Given the description of an element on the screen output the (x, y) to click on. 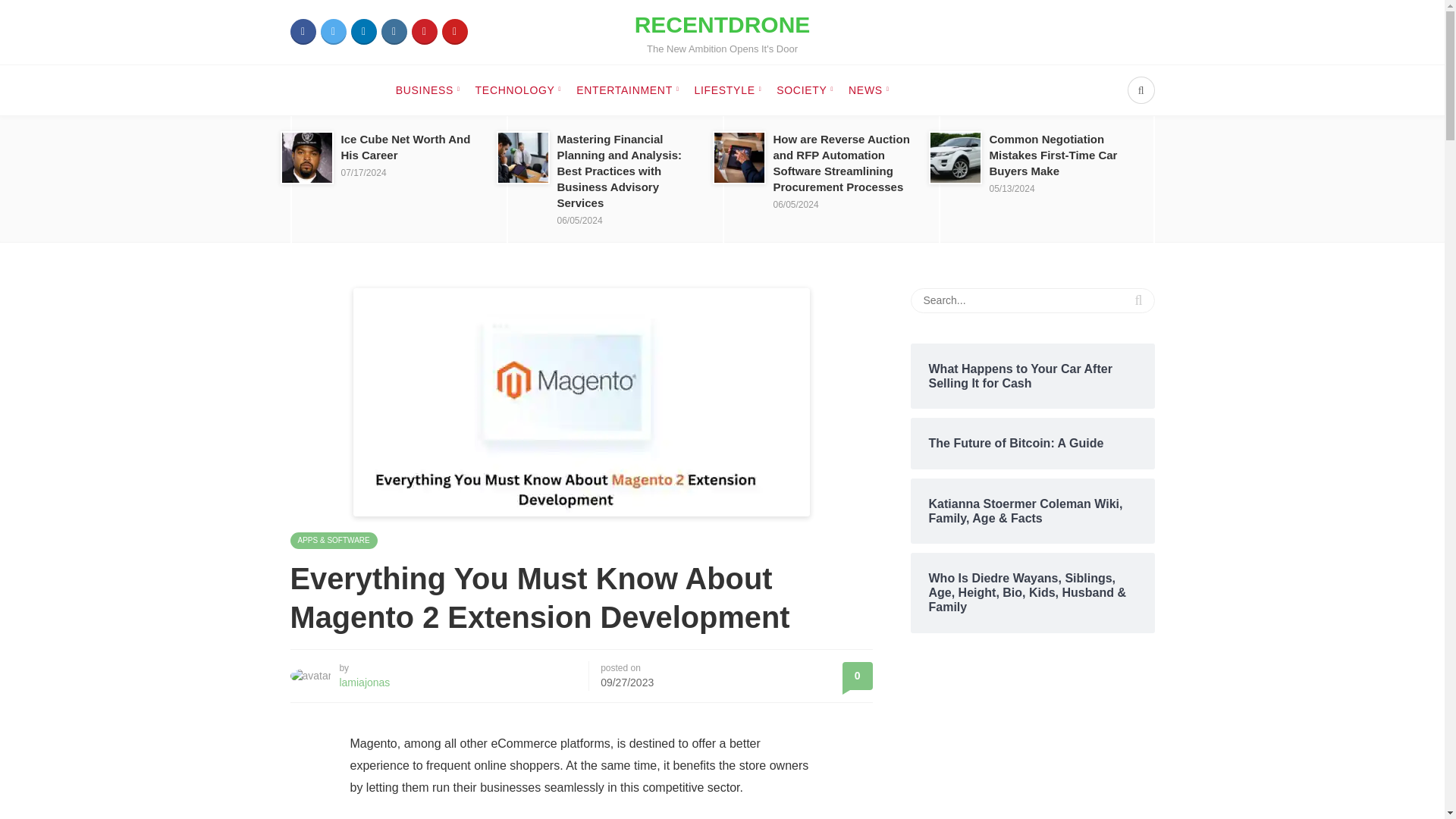
SOCIETY (804, 90)
Twitter (333, 31)
Recentdrone (722, 31)
Youtube (454, 31)
LIFESTYLE (727, 90)
Facebook (722, 31)
Instagram (302, 31)
Linkedin (393, 31)
BUSINESS (362, 31)
Pinterest (428, 90)
ENTERTAINMENT (423, 31)
TECHNOLOGY (627, 90)
